Given the description of an element on the screen output the (x, y) to click on. 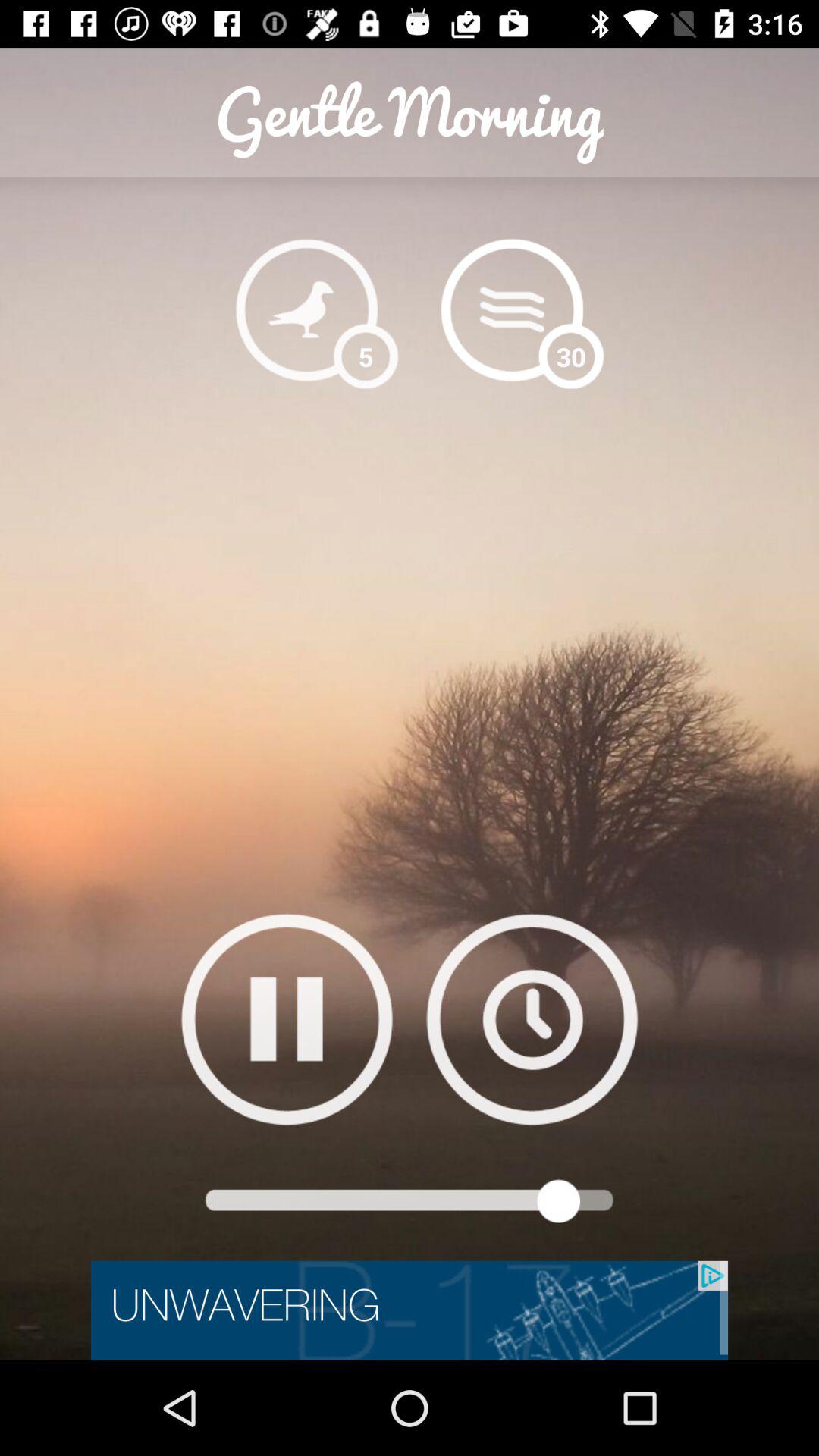
bird sound (306, 309)
